Given the description of an element on the screen output the (x, y) to click on. 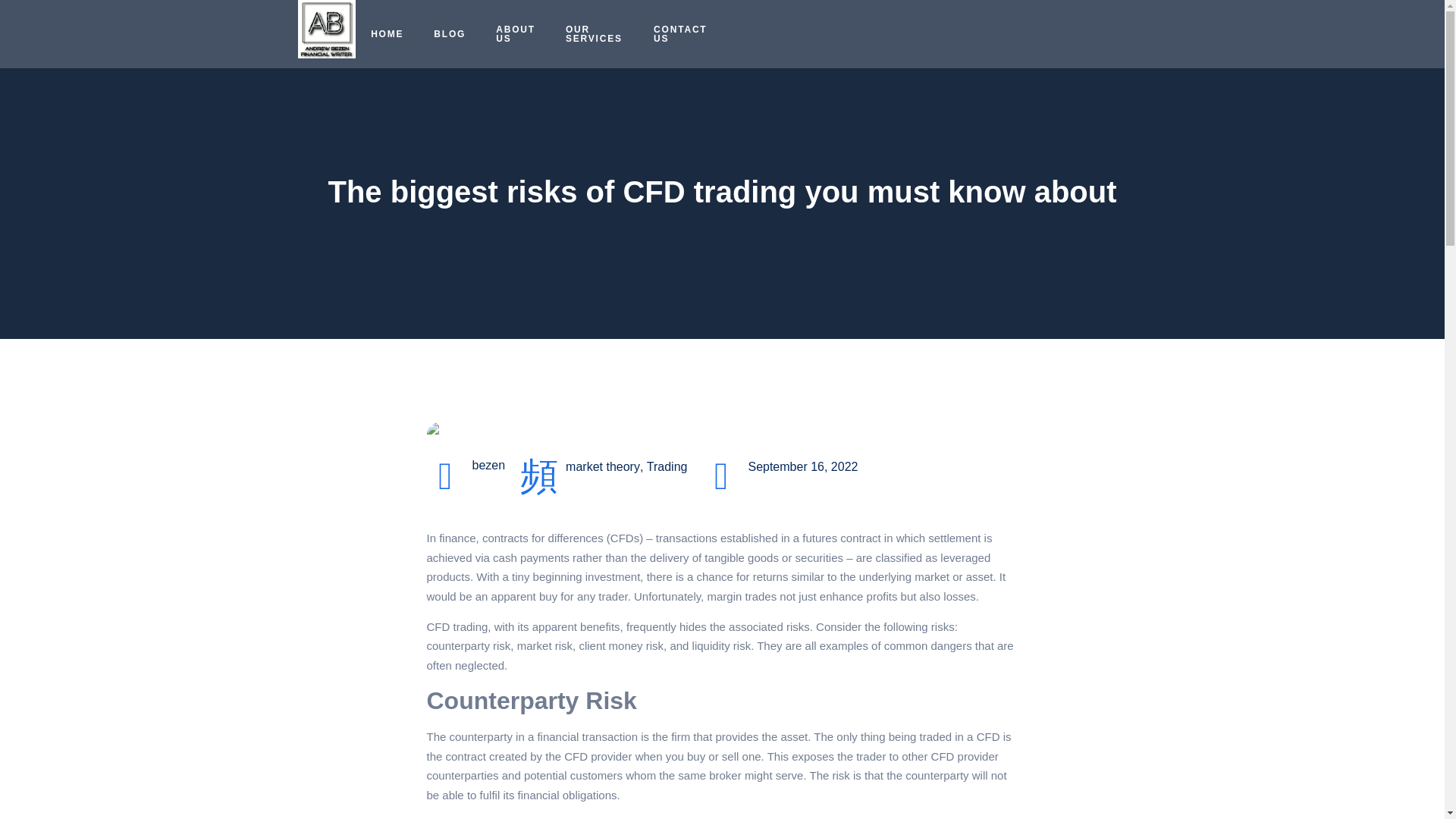
HOME (387, 33)
ABOUT US (515, 33)
BLOG (449, 33)
OUR SERVICES (594, 33)
CONTACT US (680, 33)
